Given the description of an element on the screen output the (x, y) to click on. 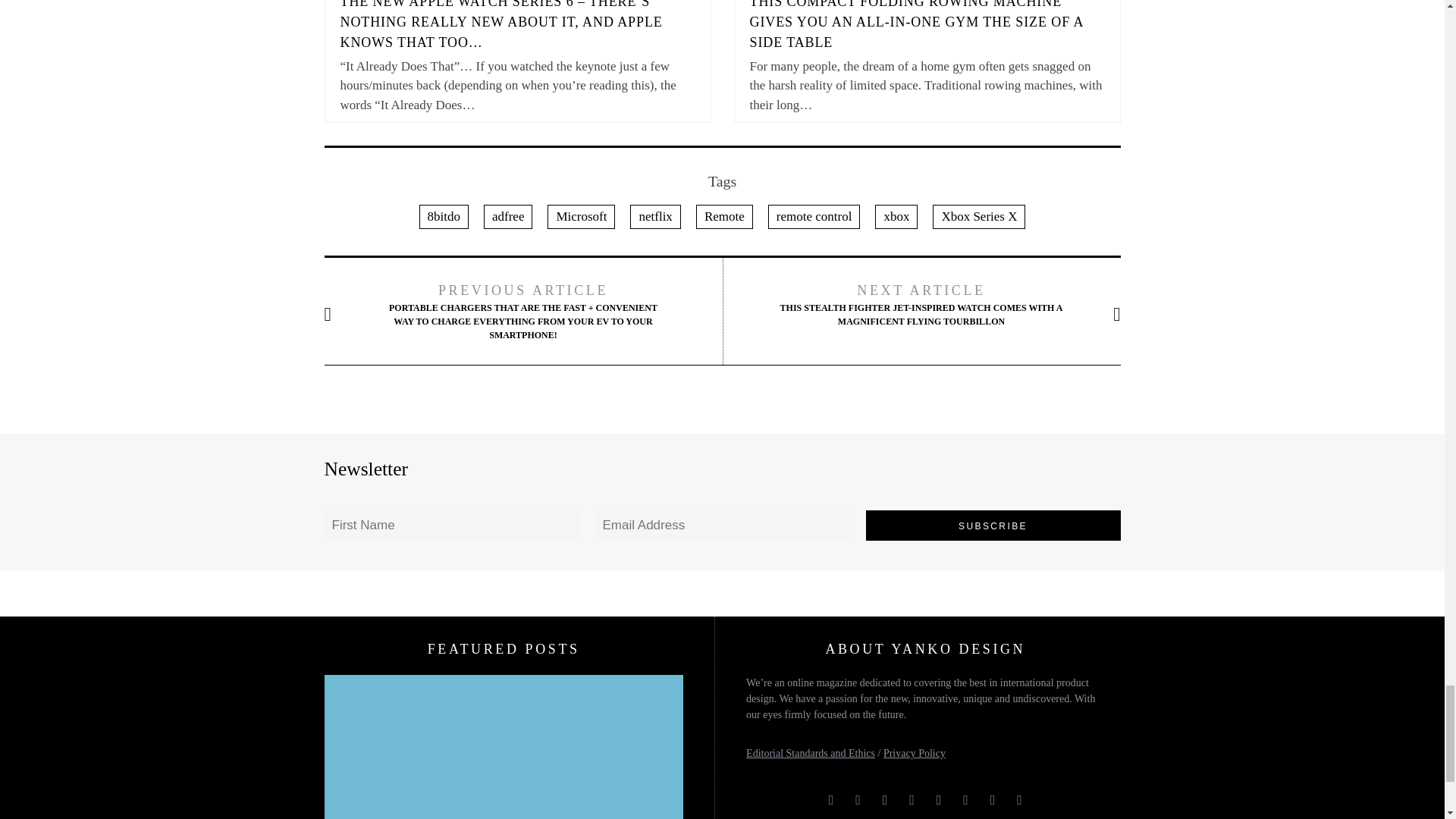
Subscribe (993, 525)
Editorial Standards and Ethics (810, 753)
Privacy Policy (913, 753)
